Given the description of an element on the screen output the (x, y) to click on. 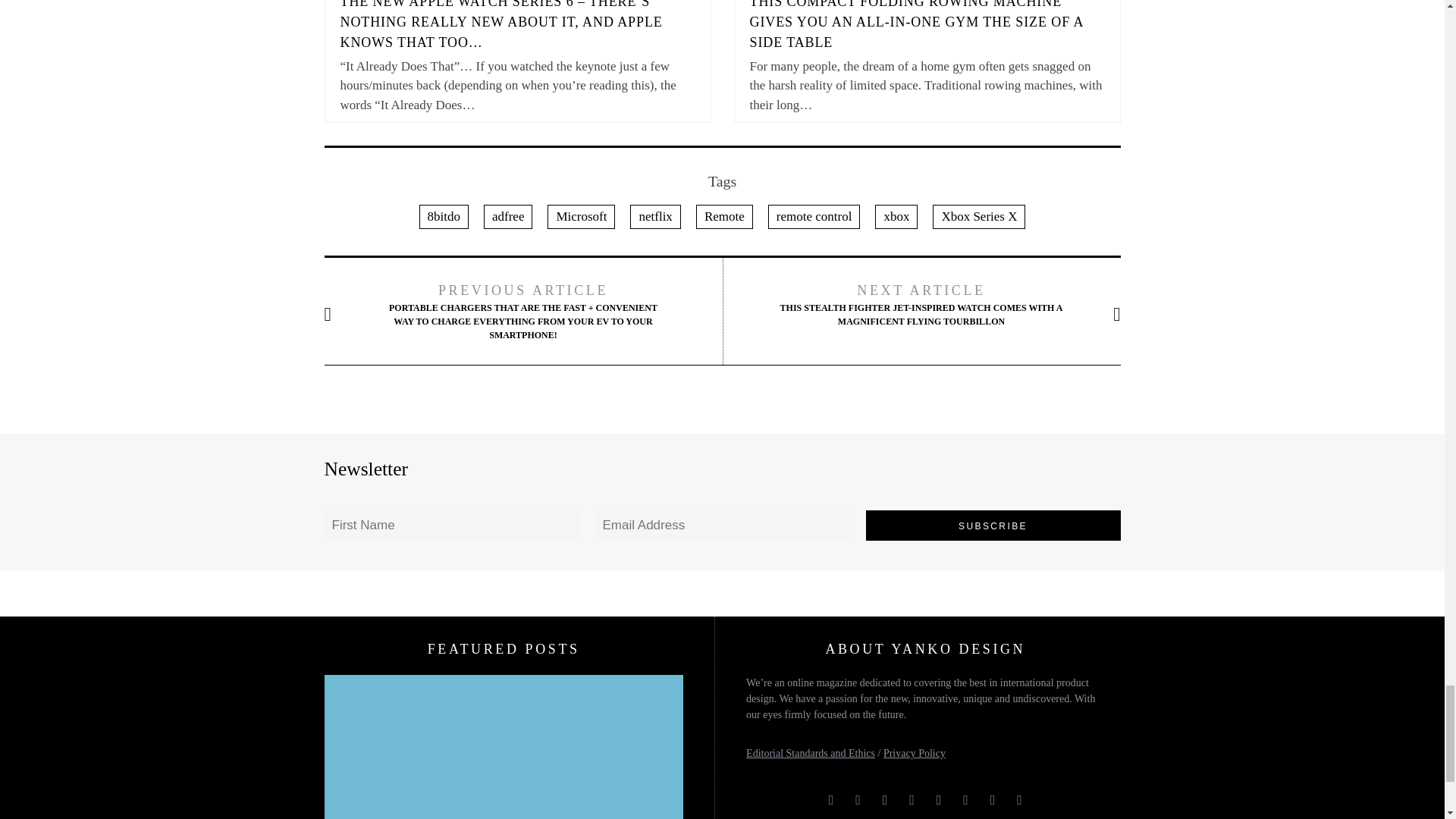
Subscribe (993, 525)
Editorial Standards and Ethics (810, 753)
Privacy Policy (913, 753)
